Given the description of an element on the screen output the (x, y) to click on. 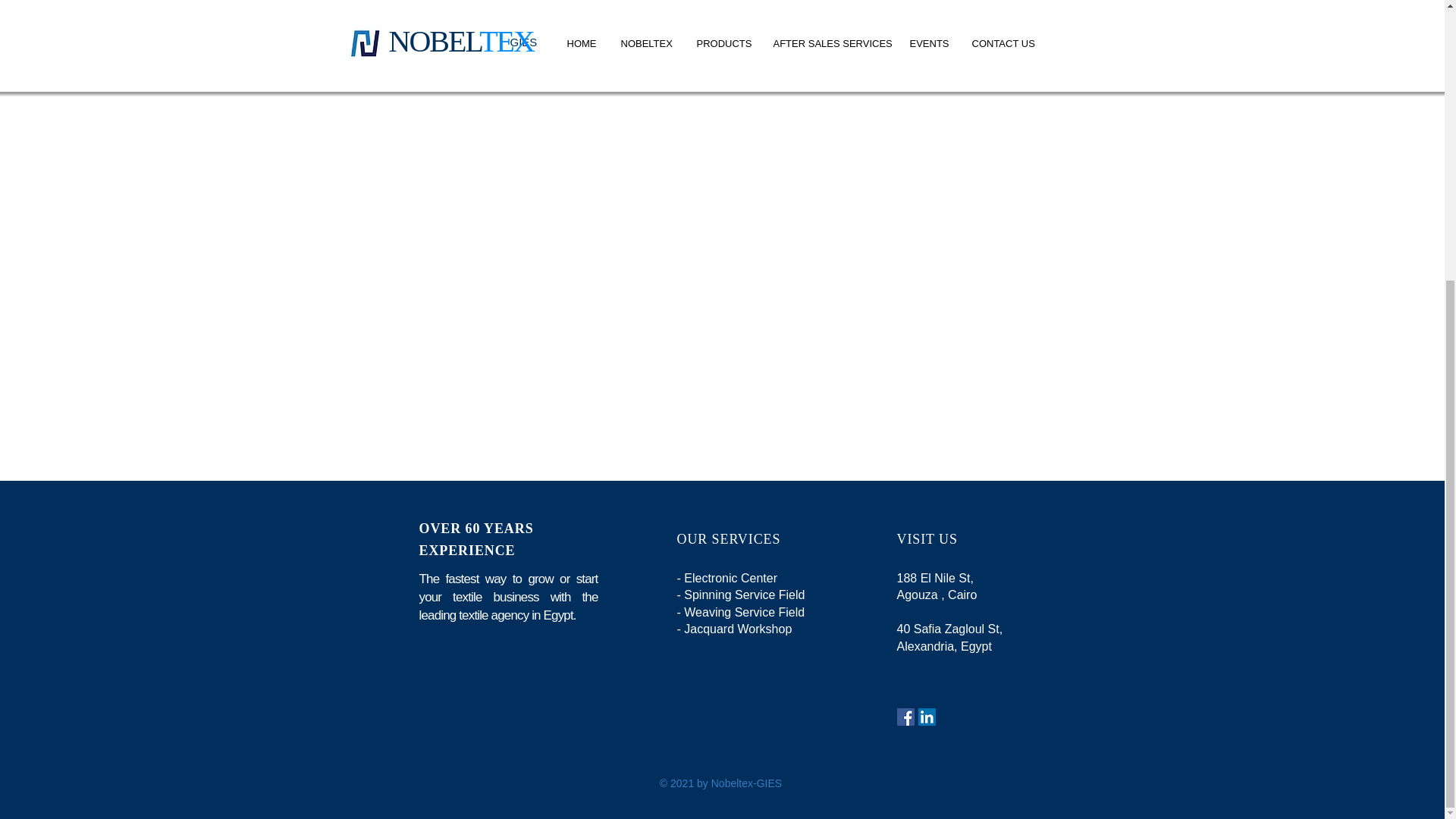
- Spinning Service Field (741, 594)
- Jacquard Workshop (734, 628)
- Weaving Service Field (741, 612)
- Electronic Center (727, 577)
